Given the description of an element on the screen output the (x, y) to click on. 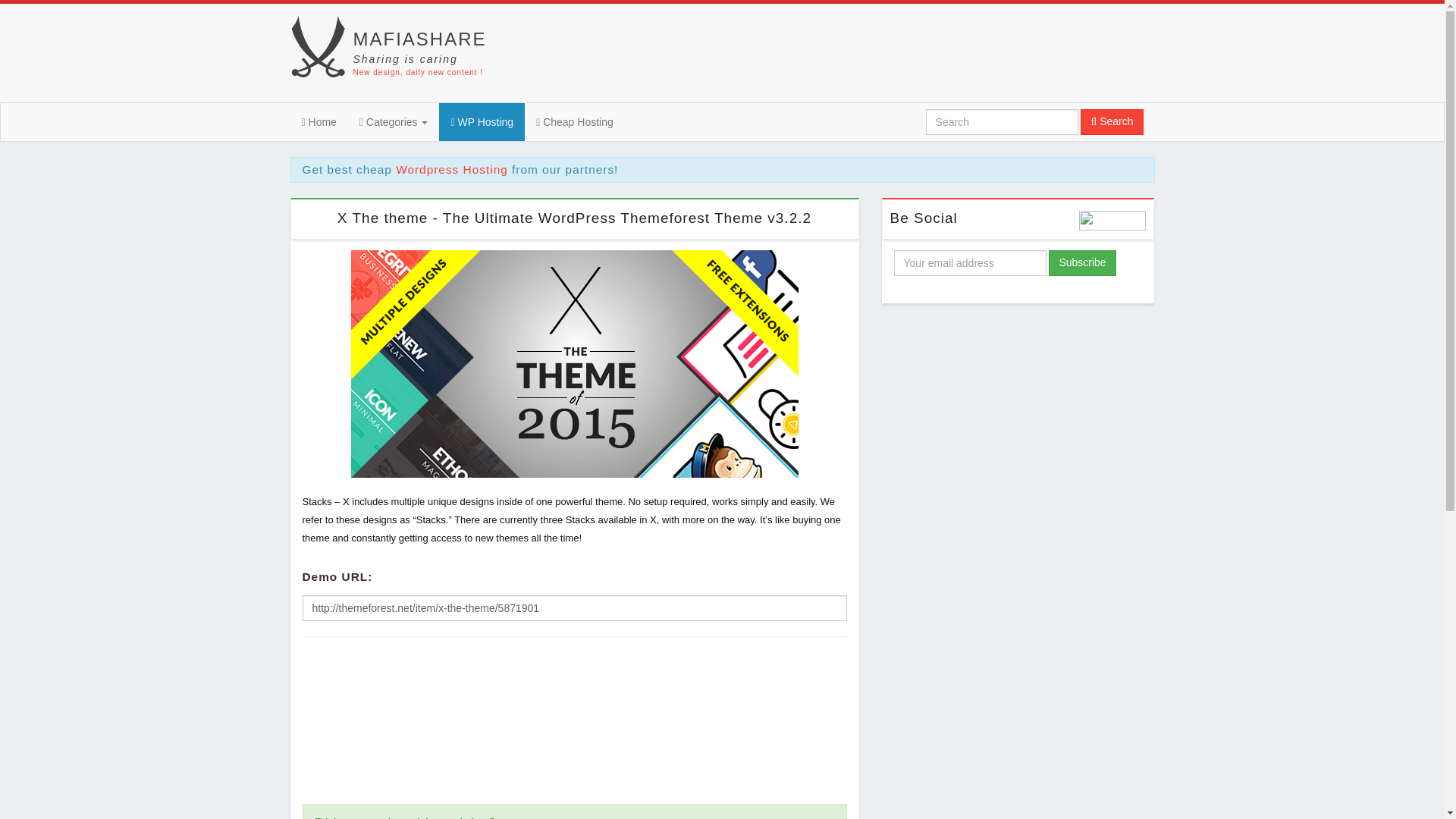
Advertisement (1017, 424)
Subscribe (1081, 263)
Search (1111, 121)
Wordpress Hosting (452, 169)
Home (395, 53)
Categories (318, 121)
WP Hosting (393, 121)
Advertisement (481, 121)
Cheap Hosting (573, 719)
